Given the description of an element on the screen output the (x, y) to click on. 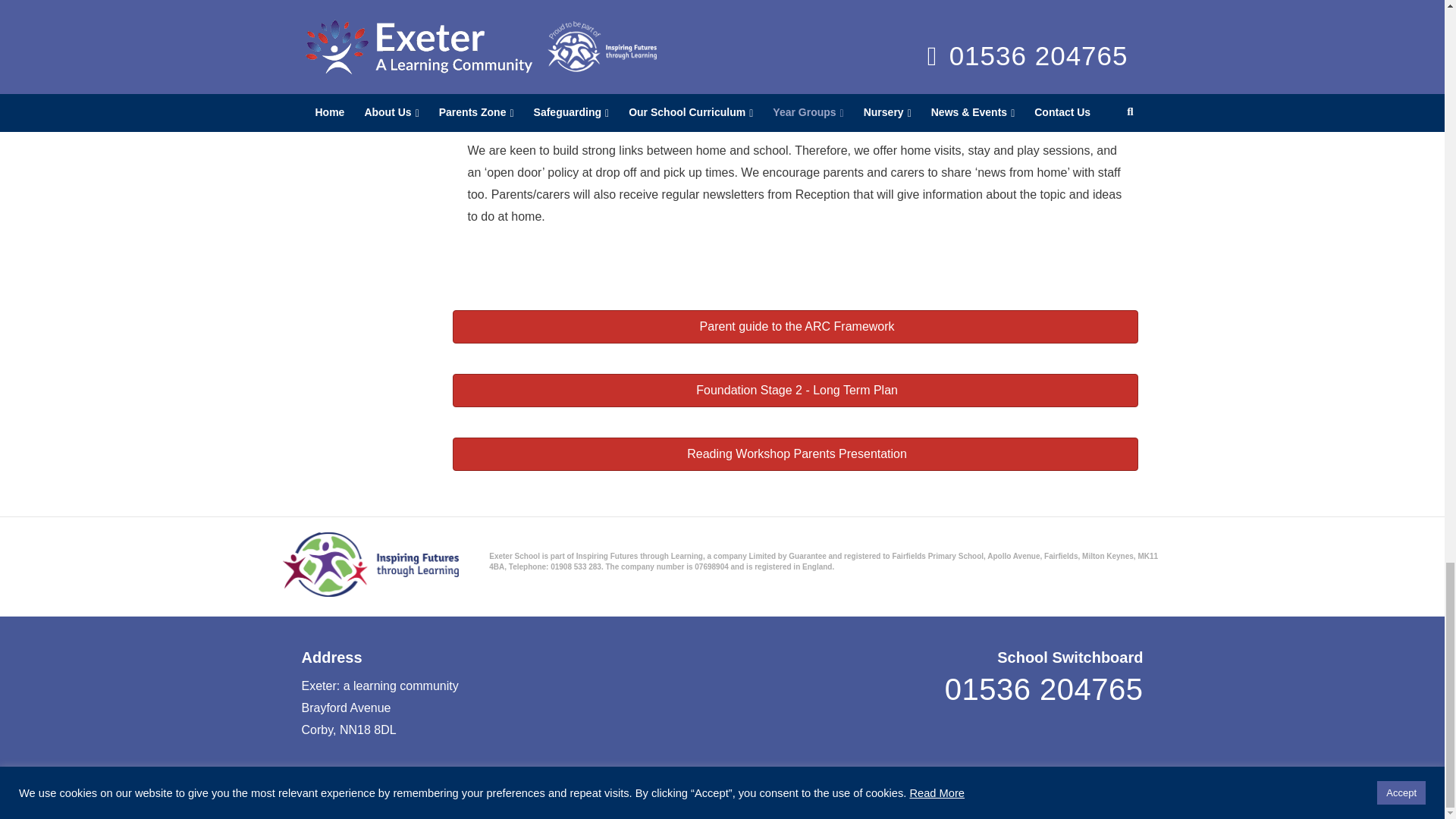
iftl footer logo (370, 564)
